Given the description of an element on the screen output the (x, y) to click on. 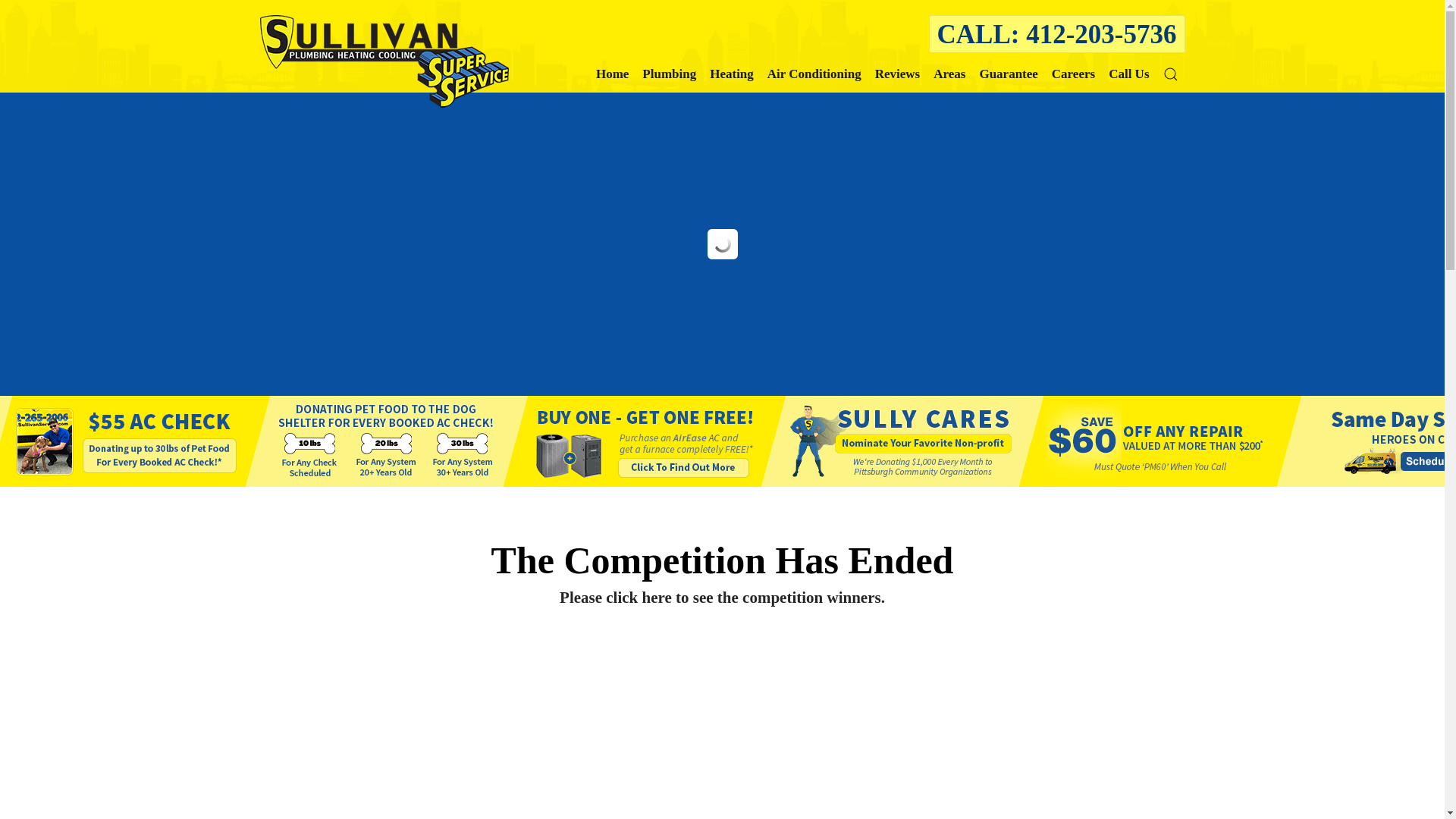
Sullivan Super Service (611, 75)
